Given the description of an element on the screen output the (x, y) to click on. 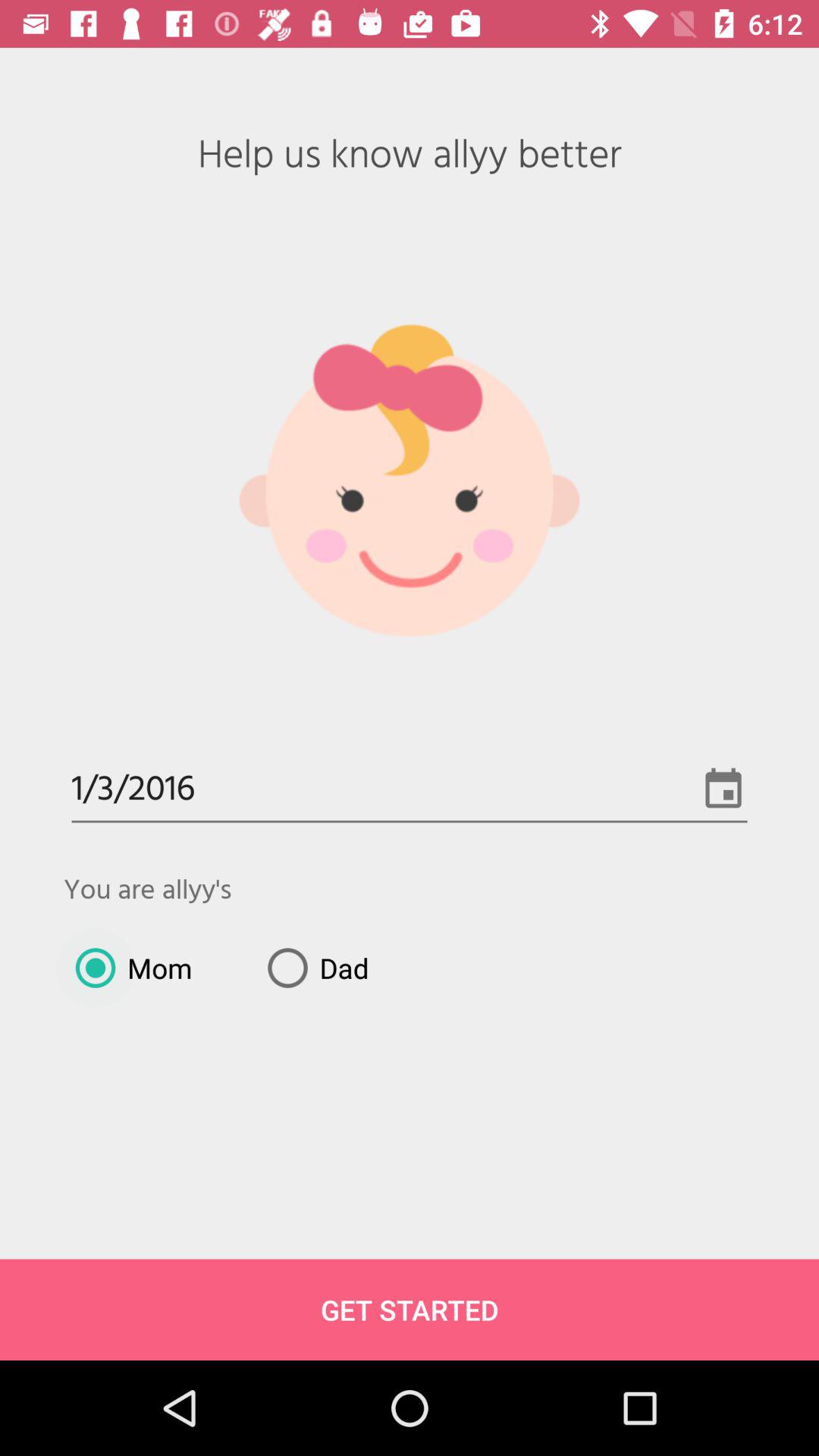
open the icon next to mom item (312, 967)
